Given the description of an element on the screen output the (x, y) to click on. 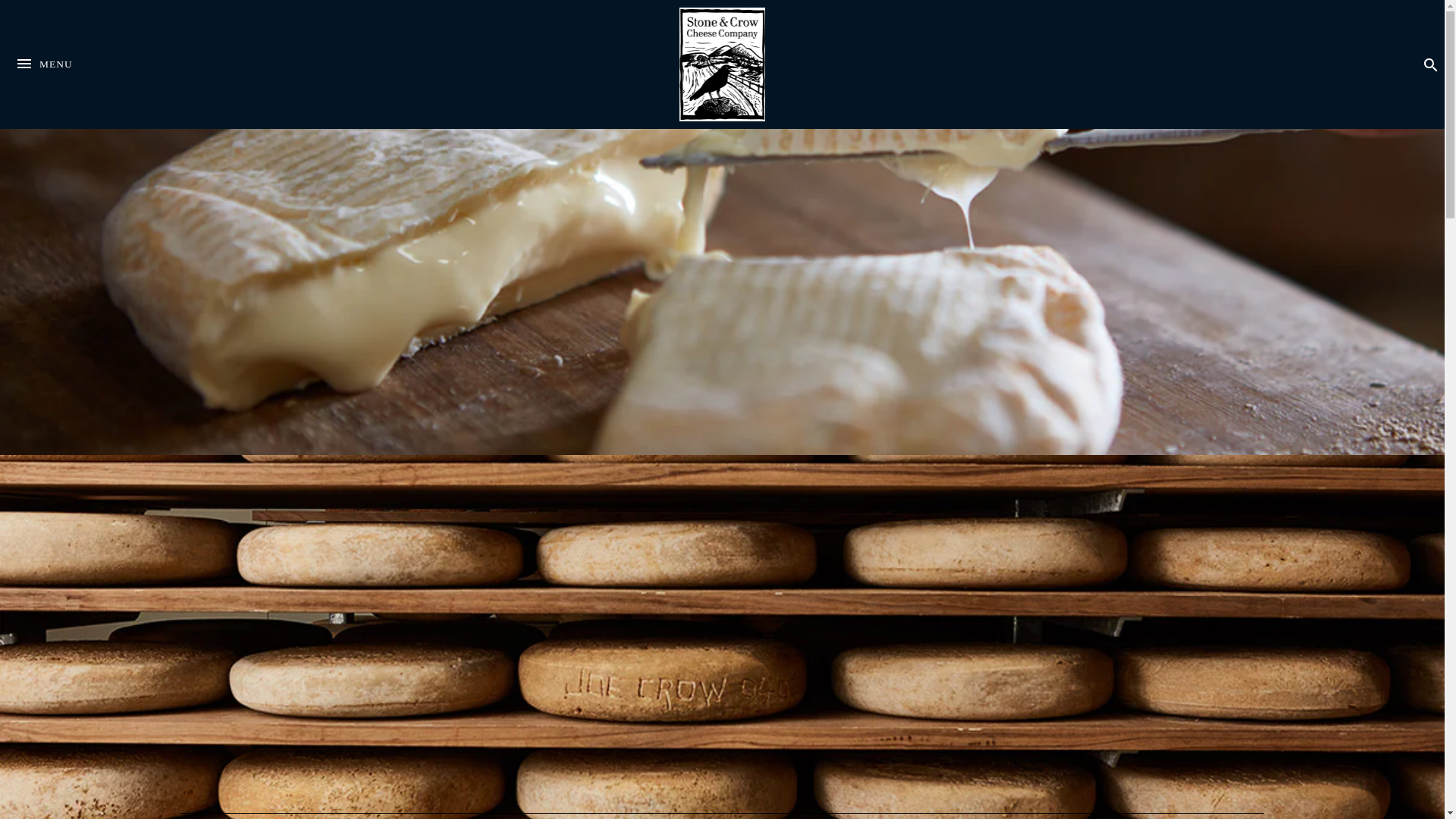
SEARCH (1141, 811)
MENU (1430, 63)
SEARCH (43, 91)
